Given the description of an element on the screen output the (x, y) to click on. 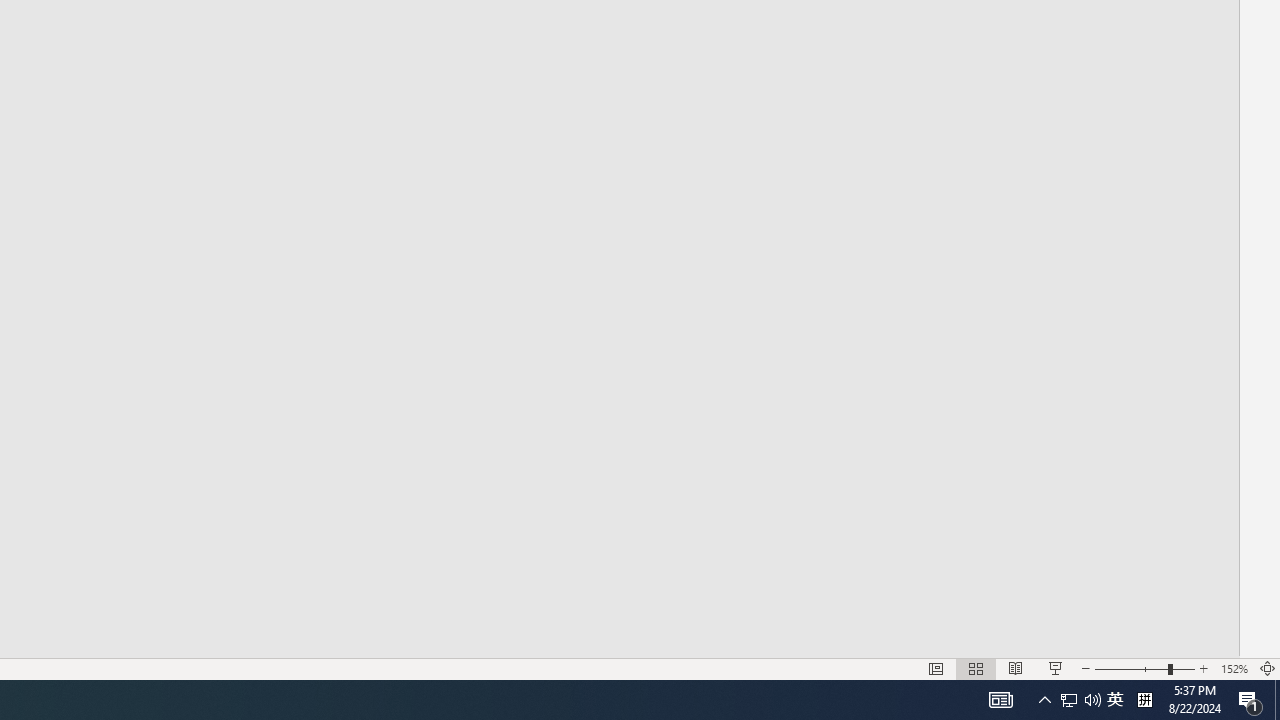
Zoom (1144, 668)
Reading View (1015, 668)
Slide Sorter (975, 668)
Zoom to Fit  (1267, 668)
Zoom 152% (1234, 668)
Zoom Out (1130, 668)
Normal (936, 668)
Zoom In (1204, 668)
